Given the description of an element on the screen output the (x, y) to click on. 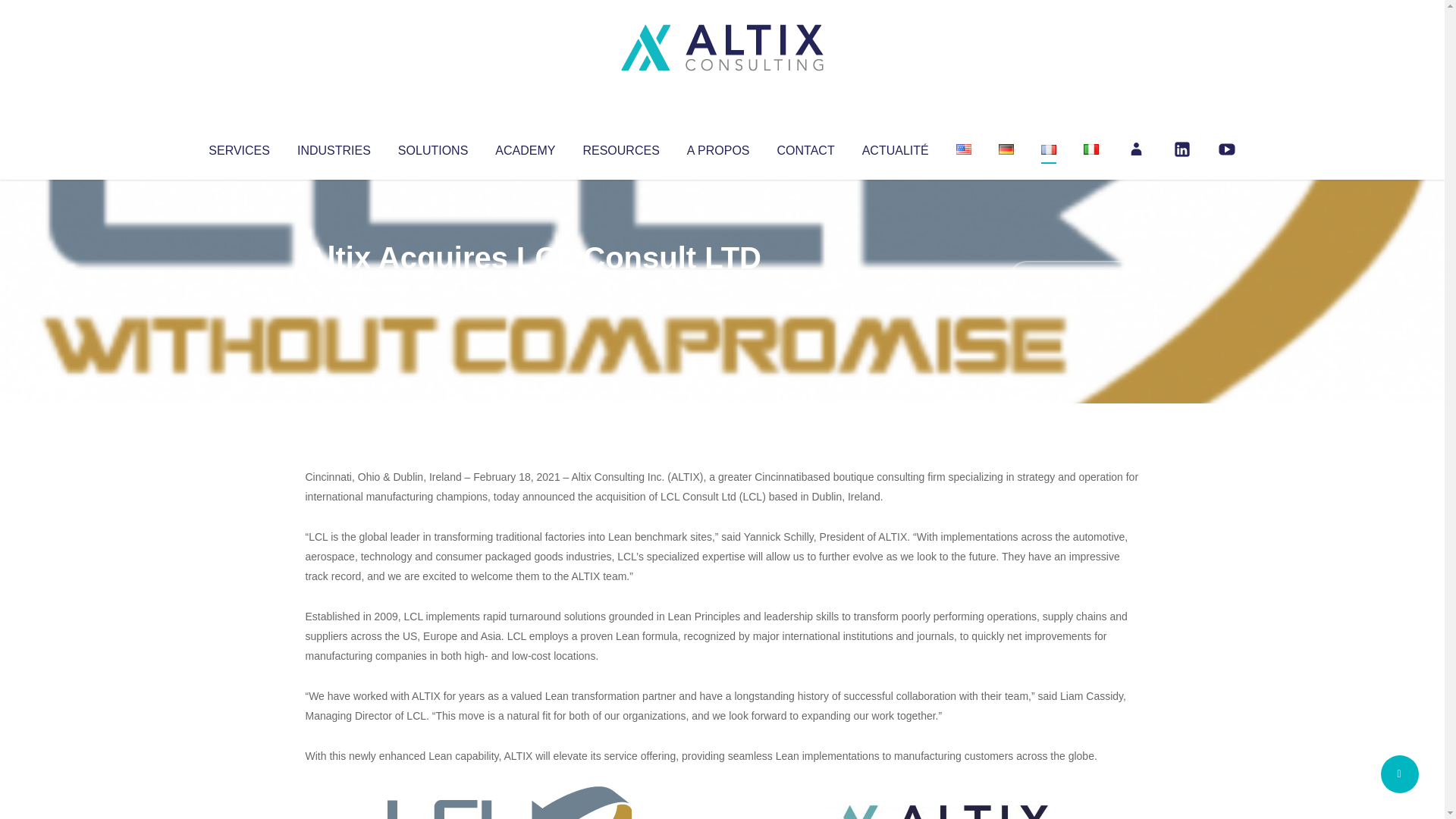
Uncategorized (530, 287)
SERVICES (238, 146)
ACADEMY (524, 146)
RESOURCES (620, 146)
Articles par Altix (333, 287)
SOLUTIONS (432, 146)
A PROPOS (718, 146)
Altix (333, 287)
INDUSTRIES (334, 146)
No Comments (1073, 278)
